Given the description of an element on the screen output the (x, y) to click on. 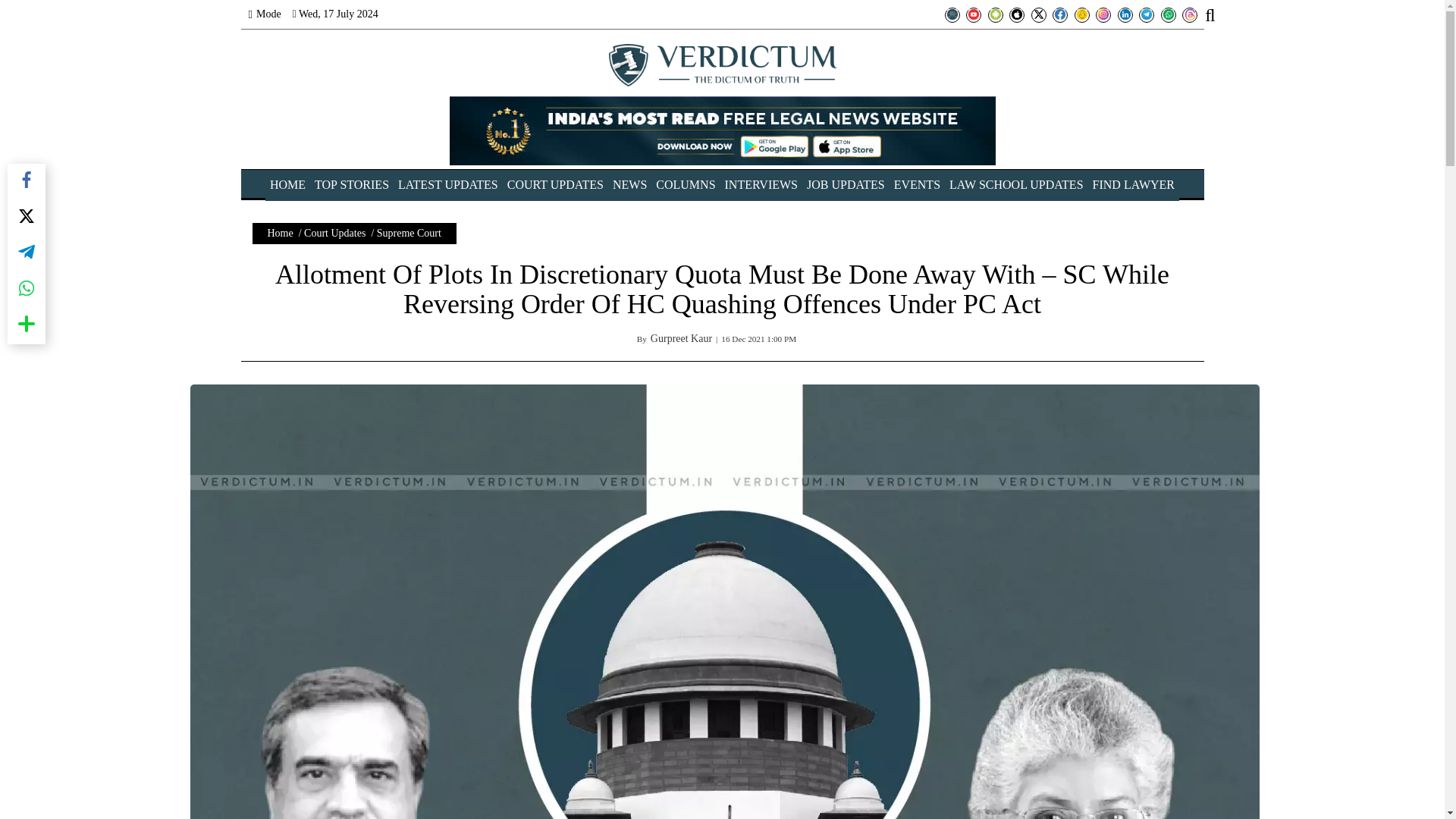
Mode (264, 14)
Verdictum (721, 65)
